Given the description of an element on the screen output the (x, y) to click on. 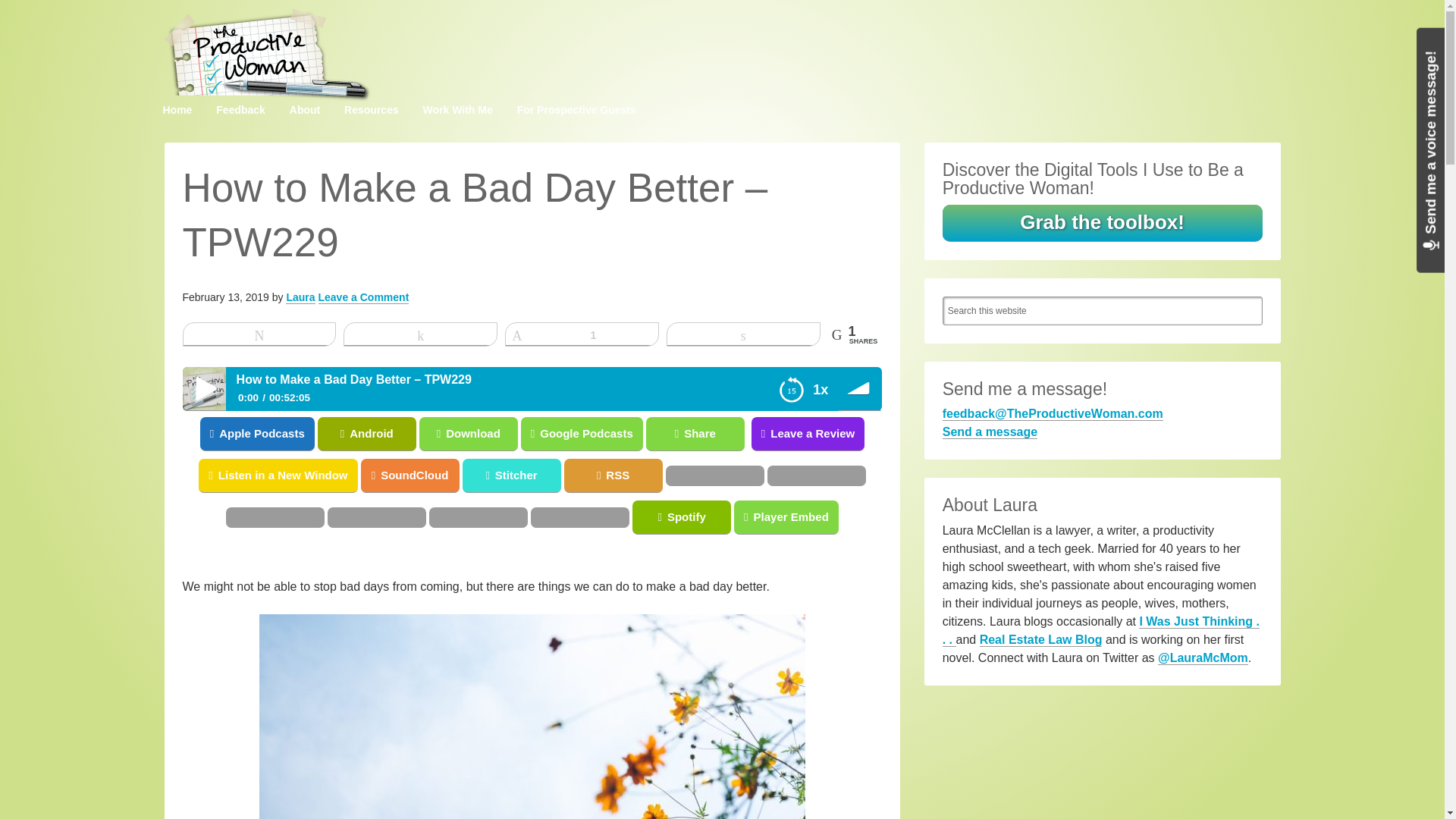
Laura (299, 297)
Home (176, 109)
Player Embed (52, 517)
1 (581, 333)
Listen in a New Window (79, 475)
Stitcher (49, 475)
Leave a Comment (363, 297)
Spotify (49, 517)
Apple Podcasts (57, 433)
For Prospective Guests (576, 109)
About (304, 109)
Work With Me (457, 109)
Download (641, 433)
